Given the description of an element on the screen output the (x, y) to click on. 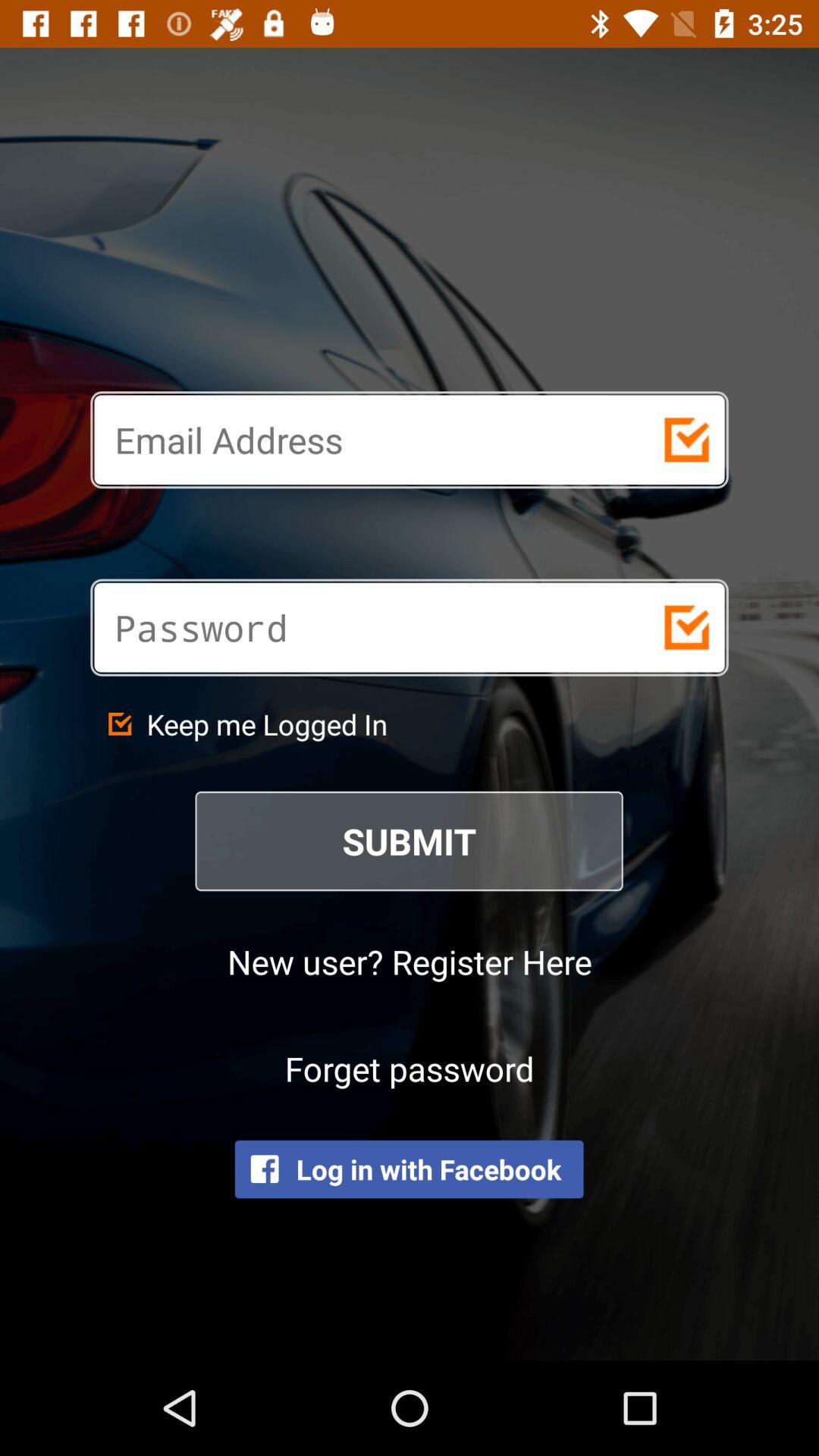
launch icon below the forget password item (408, 1169)
